Given the description of an element on the screen output the (x, y) to click on. 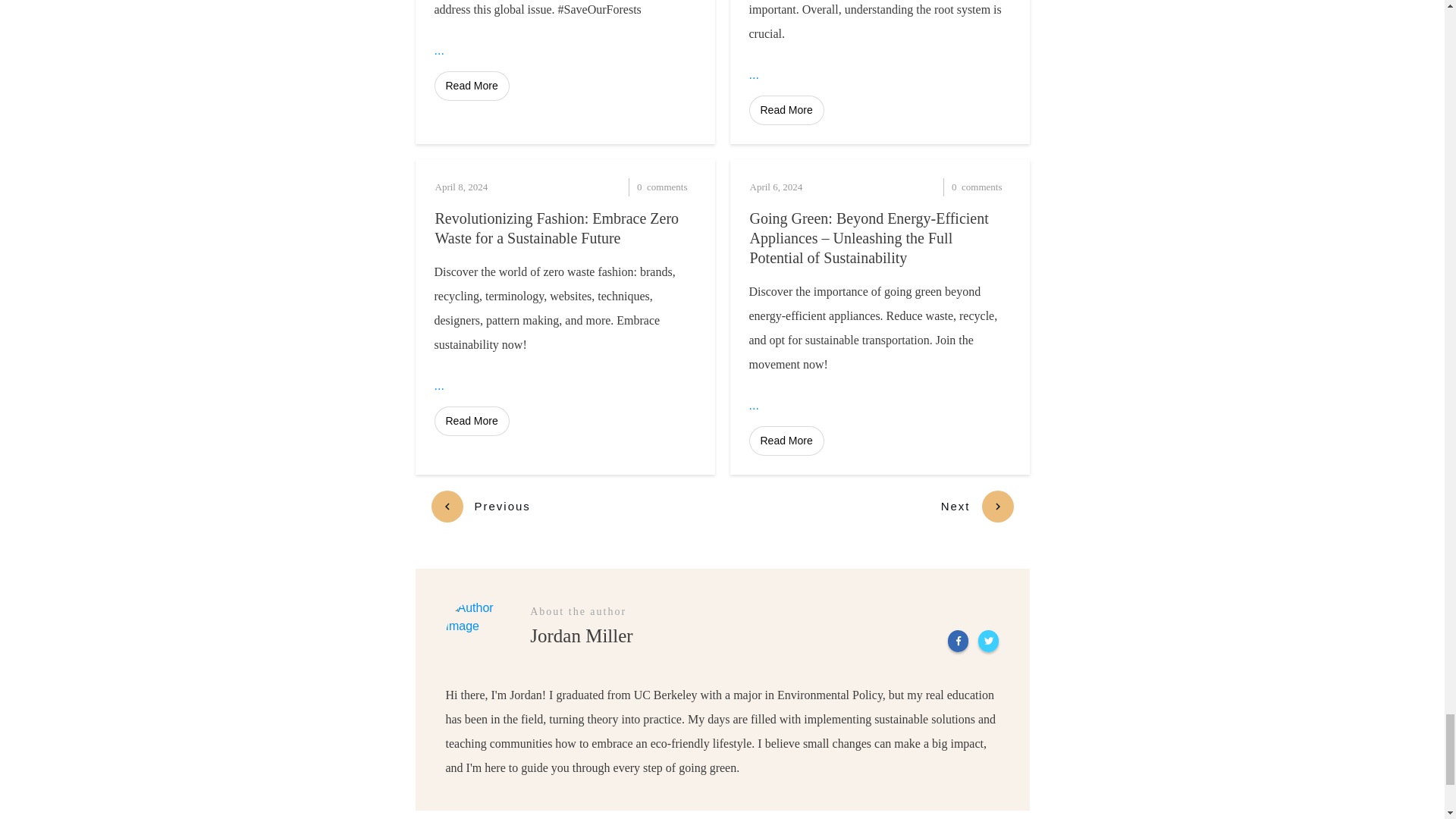
Read More (786, 110)
Read More (470, 85)
0  comments (632, 187)
